Given the description of an element on the screen output the (x, y) to click on. 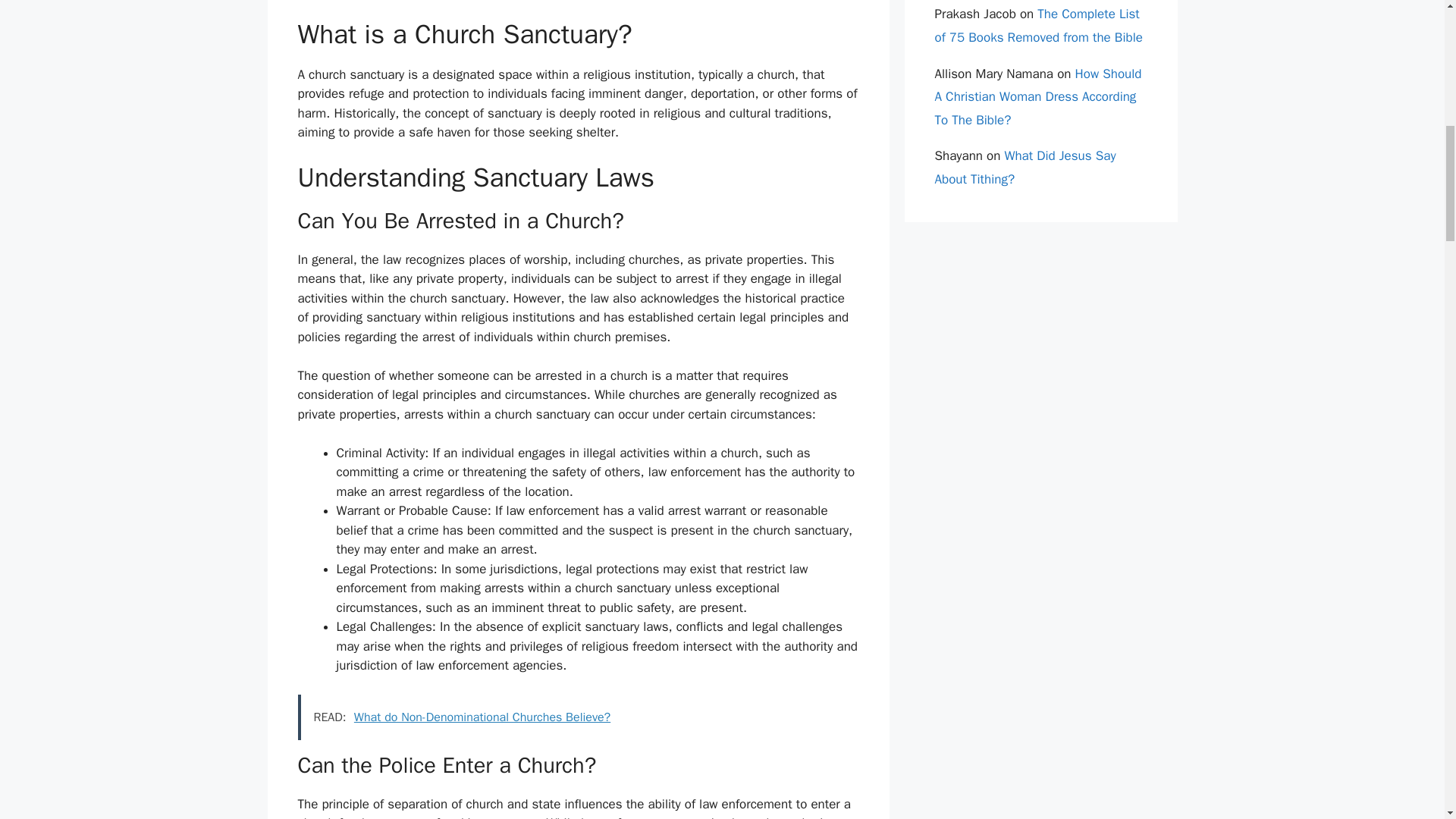
READ:  What do Non-Denominational Churches Believe? (578, 717)
